Given the description of an element on the screen output the (x, y) to click on. 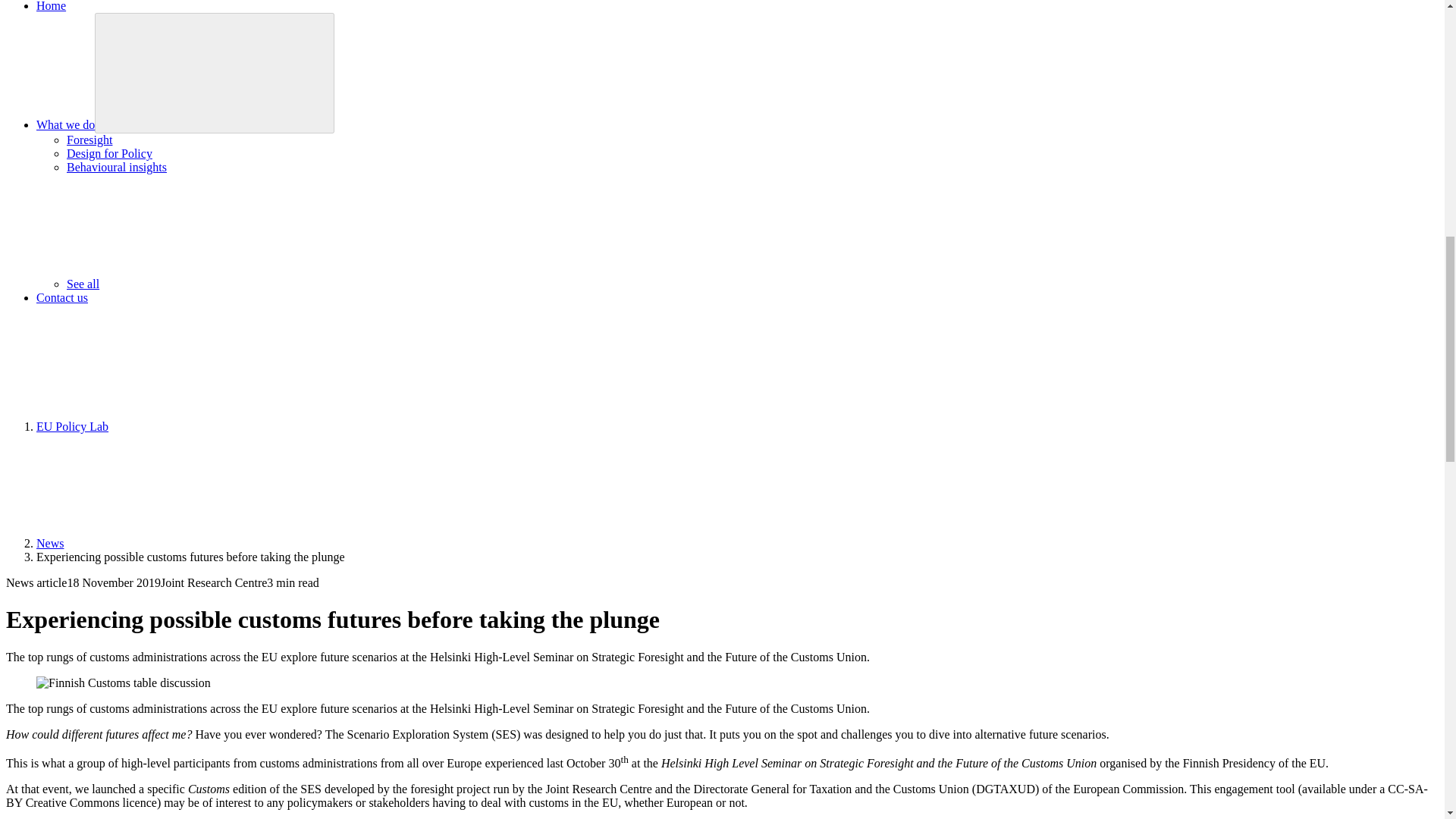
Foresight (89, 139)
What we do (65, 124)
Design for Policy (109, 153)
Home (50, 6)
News (50, 543)
Contact us (61, 297)
See all (196, 283)
EU Policy Lab (71, 426)
Behavioural insights (116, 166)
